Given the description of an element on the screen output the (x, y) to click on. 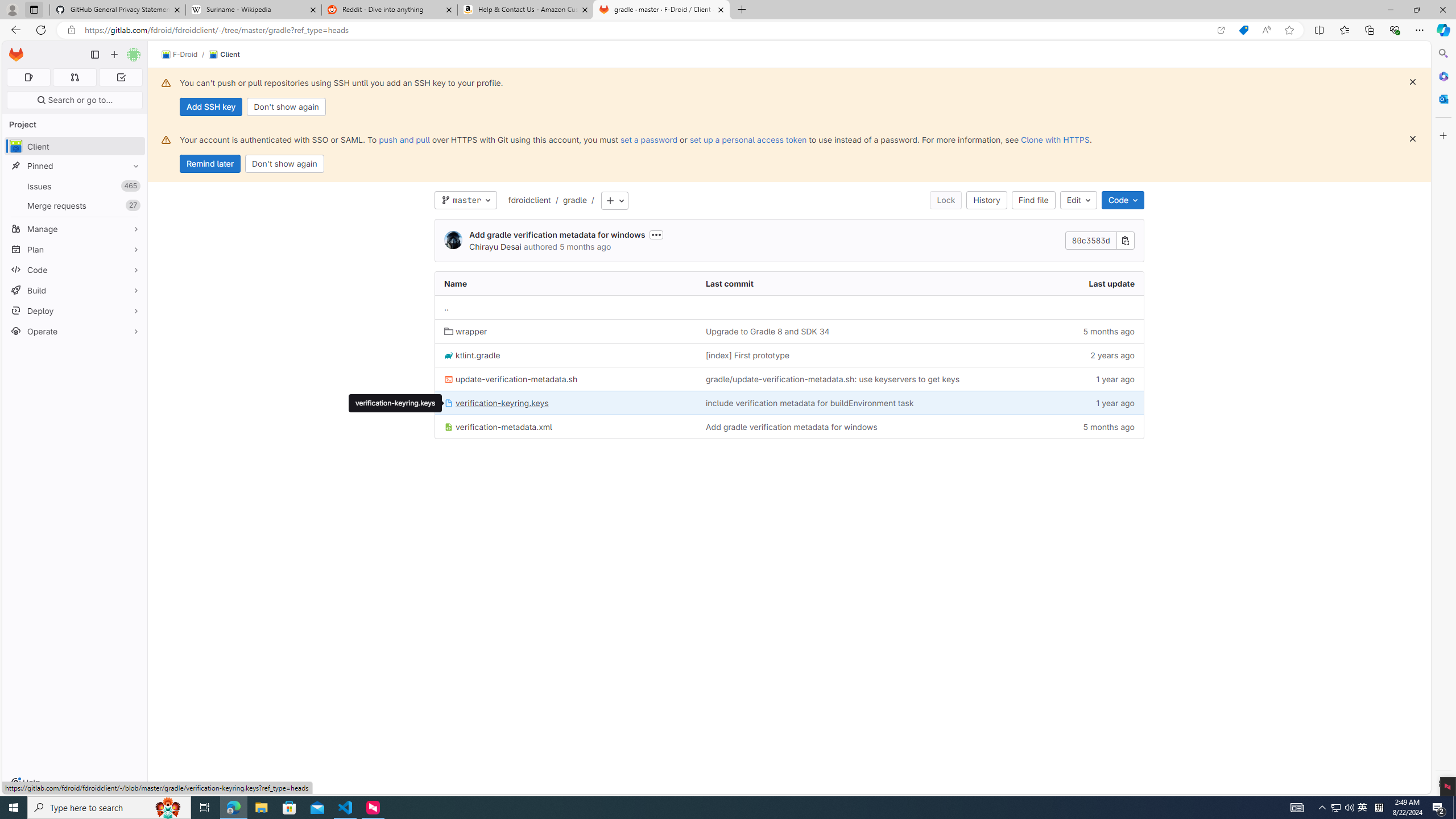
update-verification-metadata.sh (566, 378)
avatar Client (74, 145)
Go to parent (446, 307)
avatar (15, 146)
Copy commit SHA (1125, 240)
update-verification-metadata.sh (511, 379)
[index] First prototype (853, 355)
Pinned (74, 165)
Add to tree (613, 200)
